Given the description of an element on the screen output the (x, y) to click on. 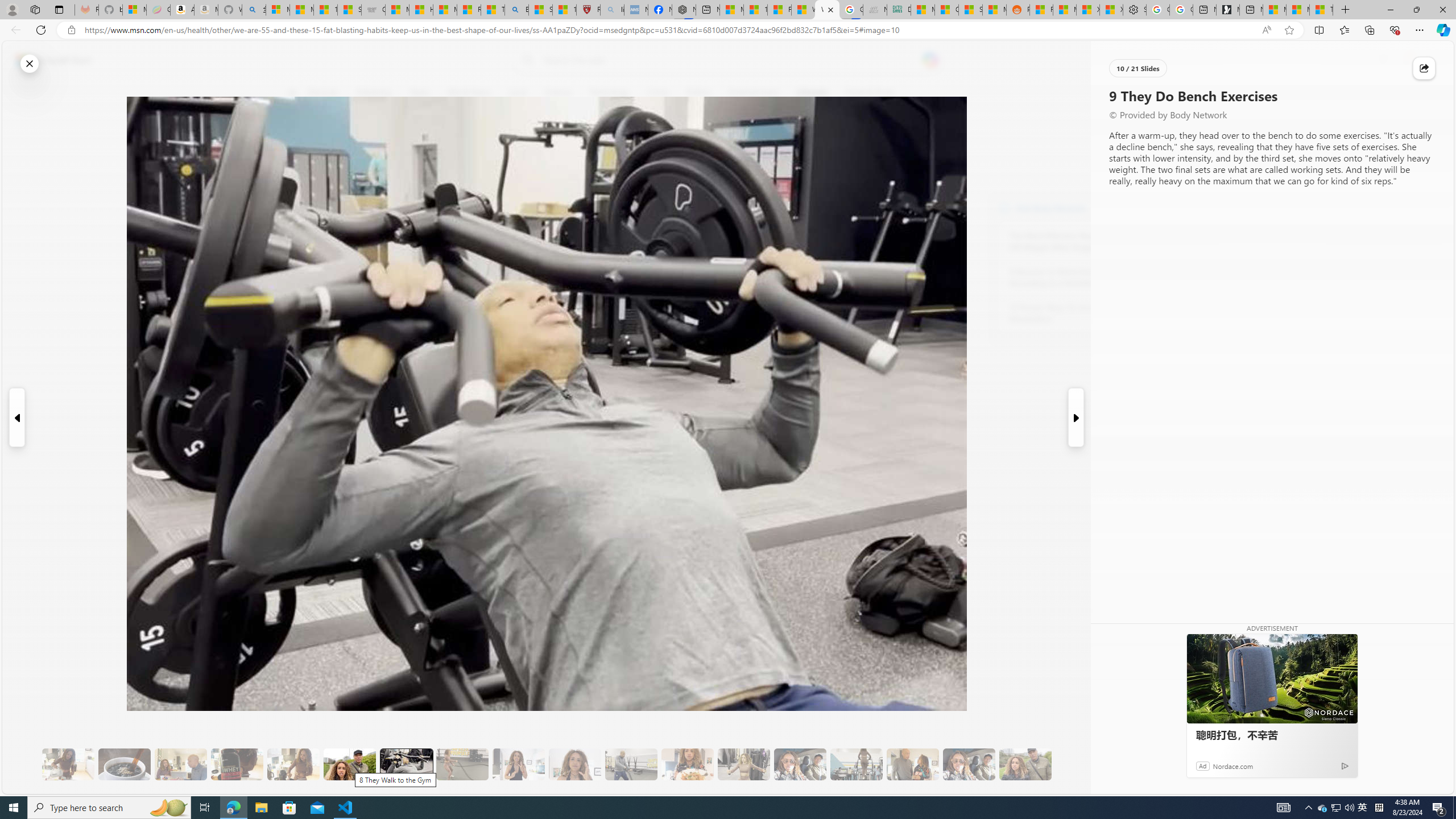
These 3 Stocks Pay You More Than 5% to Own Them (1321, 9)
Open settings (1427, 60)
14 Common Myths Debunked By Scientific Facts (754, 9)
Food & Drink (869, 92)
6 (299, 170)
Go to publisher's site (830, 146)
Ad Choice (1344, 765)
Open navigation menu (292, 92)
DITOGAMES AG Imprint (898, 9)
Fitness - MSN (779, 9)
18 It's More Fun Doing It with Someone Else (912, 764)
Class: button-glyph (292, 92)
11 They Eat More Protein for Breakfast (518, 764)
Personalize (1132, 92)
